Given the description of an element on the screen output the (x, y) to click on. 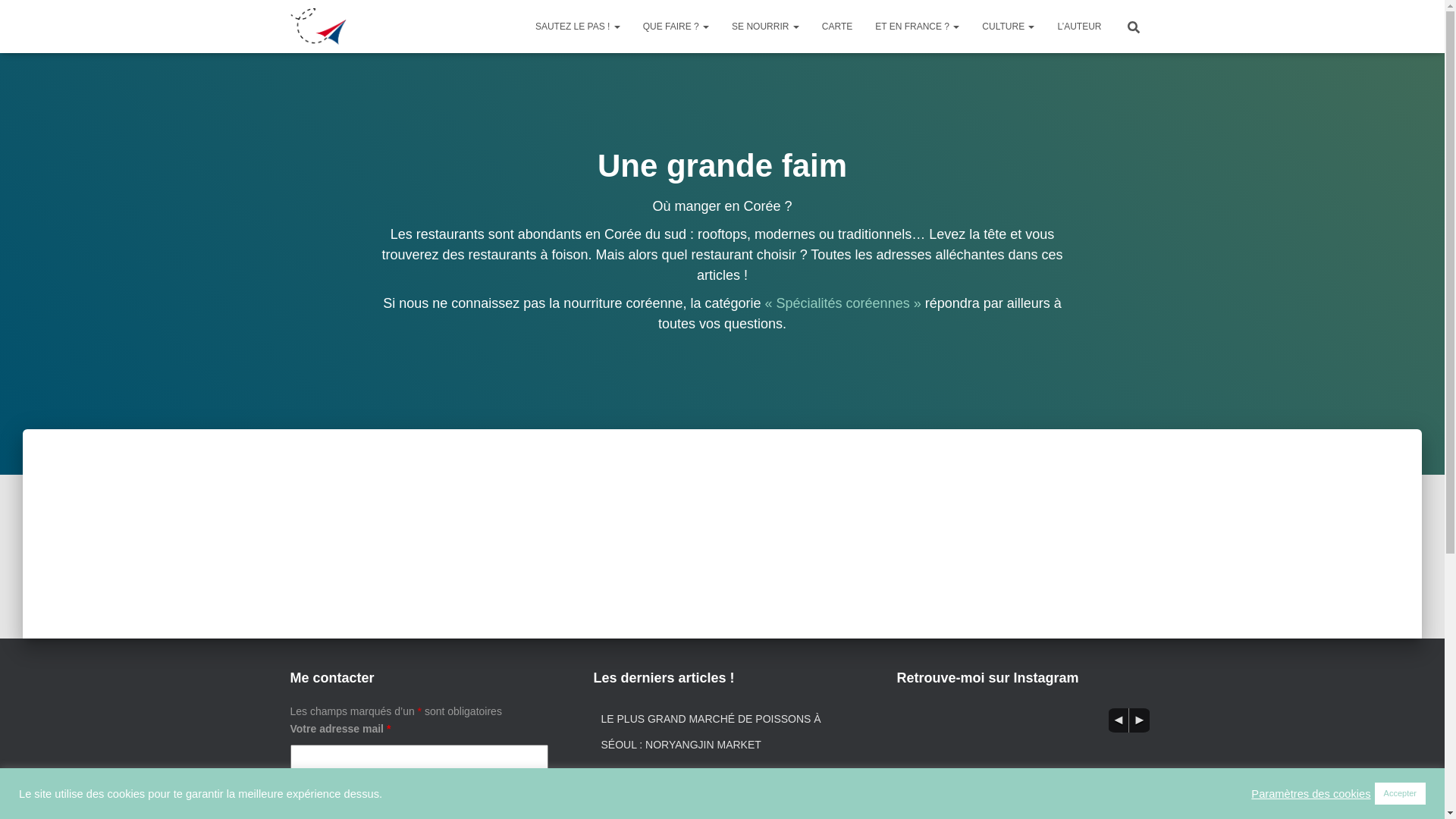
CARTE Element type: text (836, 26)
Accepter Element type: text (1399, 793)
123 South Korea Element type: hover (318, 26)
SE NOURRIR Element type: text (765, 26)
ET EN FRANCE ? Element type: text (916, 26)
QUE FAIRE ? Element type: text (675, 26)
CULTURE Element type: text (1007, 26)
Rechercher Element type: text (3, 16)
SAUTEZ LE PAS ! Element type: text (577, 26)
